Given the description of an element on the screen output the (x, y) to click on. 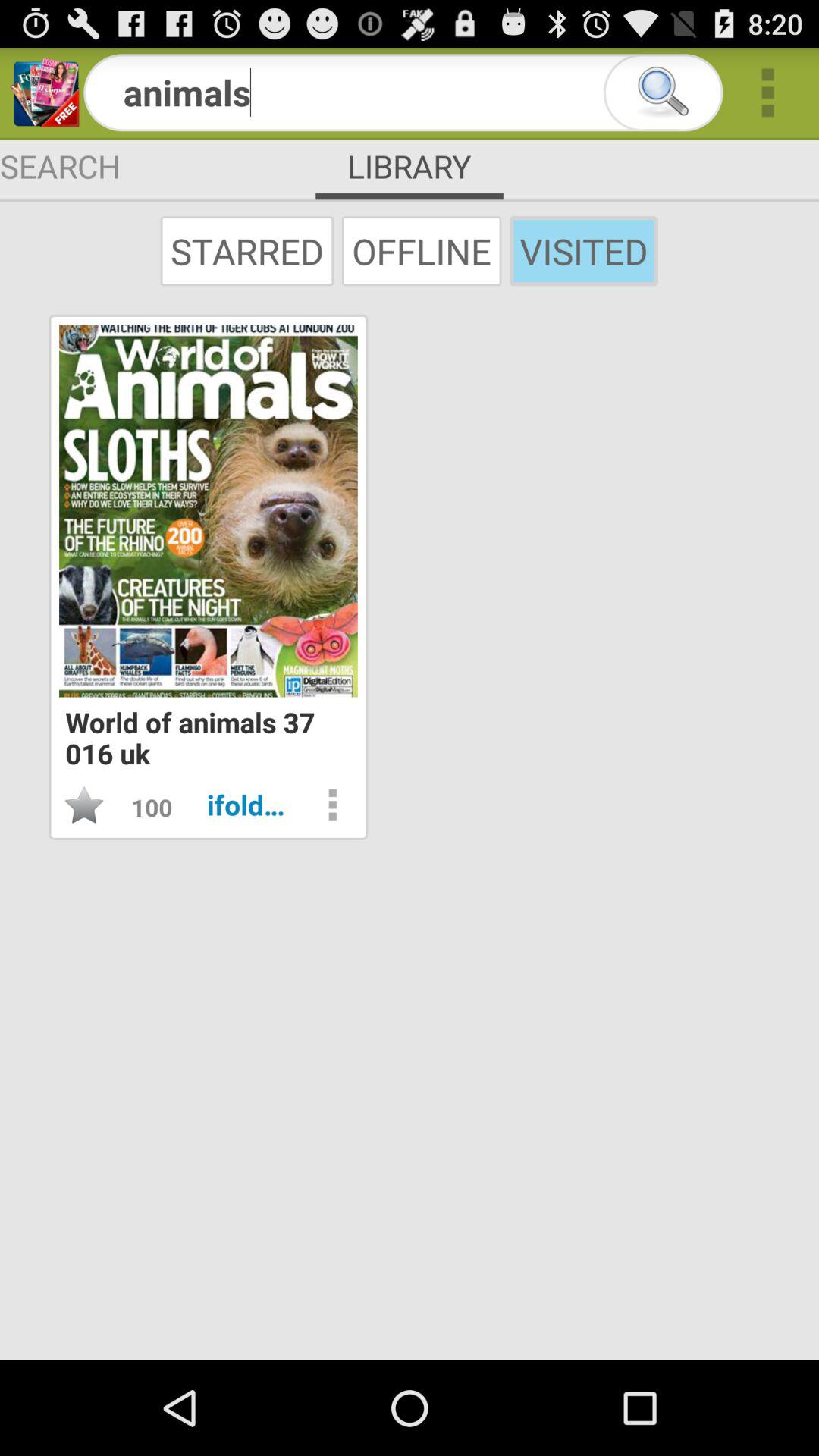
expand list (767, 92)
